Given the description of an element on the screen output the (x, y) to click on. 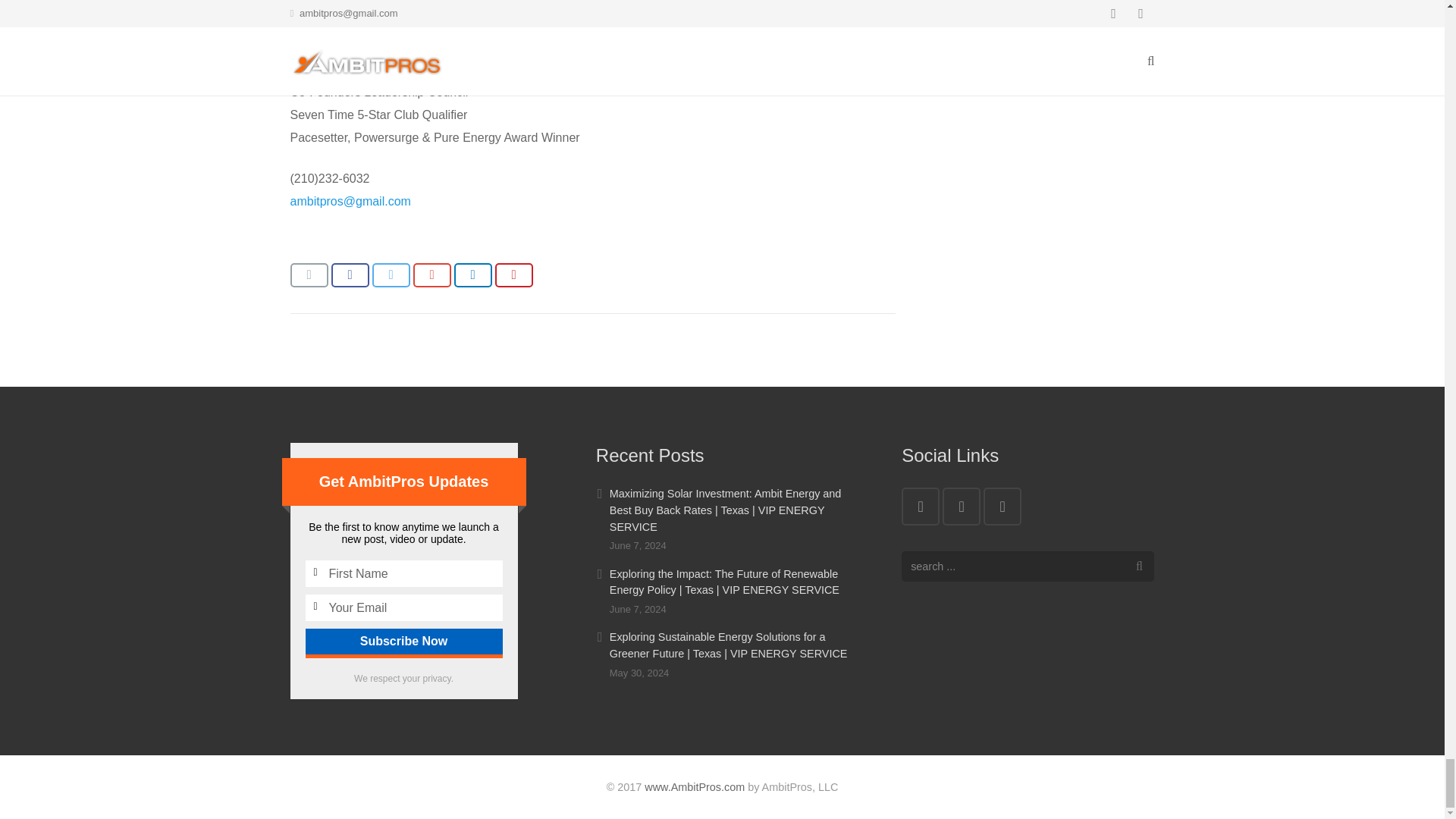
Pin this (513, 274)
Share this (472, 274)
Subscribe Now (403, 641)
Tweet this (390, 274)
Share this (430, 274)
Email this (308, 274)
Share this (349, 274)
